Given the description of an element on the screen output the (x, y) to click on. 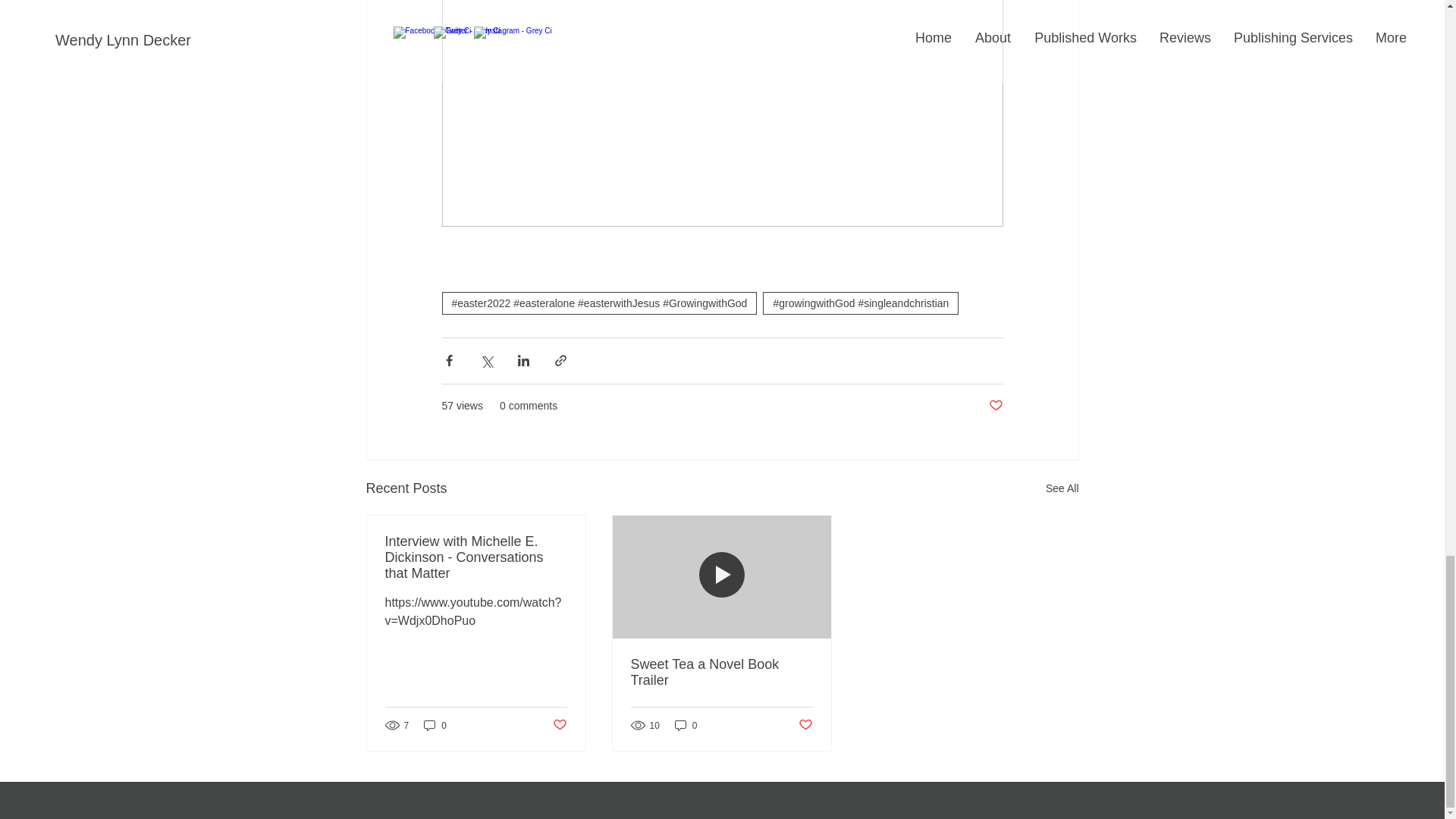
Sweet Tea a Novel Book Trailer (721, 672)
See All (1061, 488)
Post not marked as liked (558, 725)
Post not marked as liked (995, 406)
0 (685, 725)
Post not marked as liked (804, 725)
0 (435, 725)
